Given the description of an element on the screen output the (x, y) to click on. 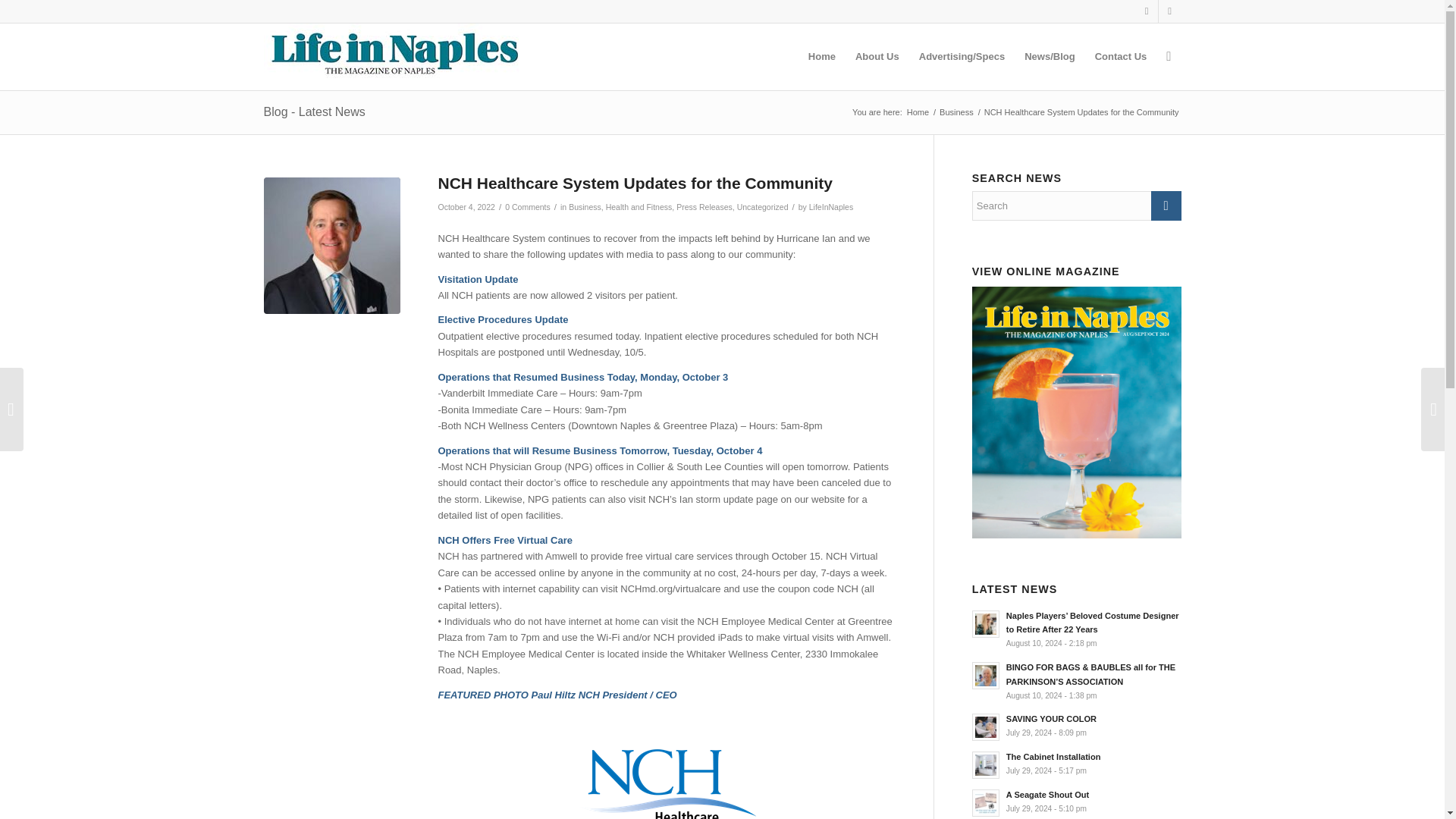
Permanent Link: Blog - Latest News (314, 111)
Facebook (1146, 11)
LIN-LOGO-2019340by78 (392, 52)
Press Releases (704, 206)
LifeInNaples (831, 206)
Twitter (1169, 11)
0 Comments (527, 206)
Uncategorized (762, 206)
Home (917, 112)
Business (585, 206)
